Given the description of an element on the screen output the (x, y) to click on. 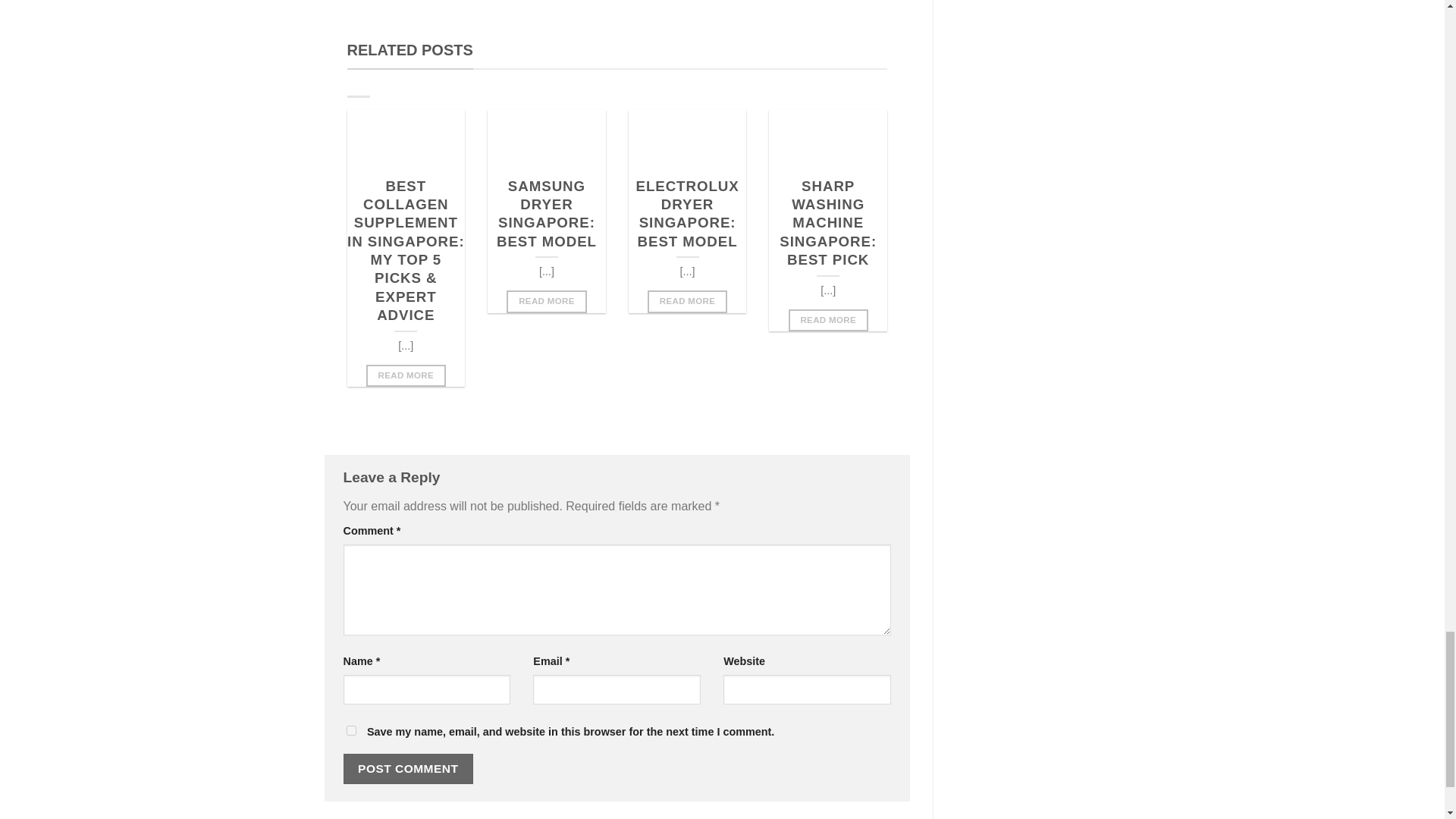
yes (350, 730)
READ MORE (546, 301)
Post Comment (407, 767)
READ MORE (828, 320)
Post Comment (407, 767)
READ MORE (405, 375)
READ MORE (686, 301)
